Given the description of an element on the screen output the (x, y) to click on. 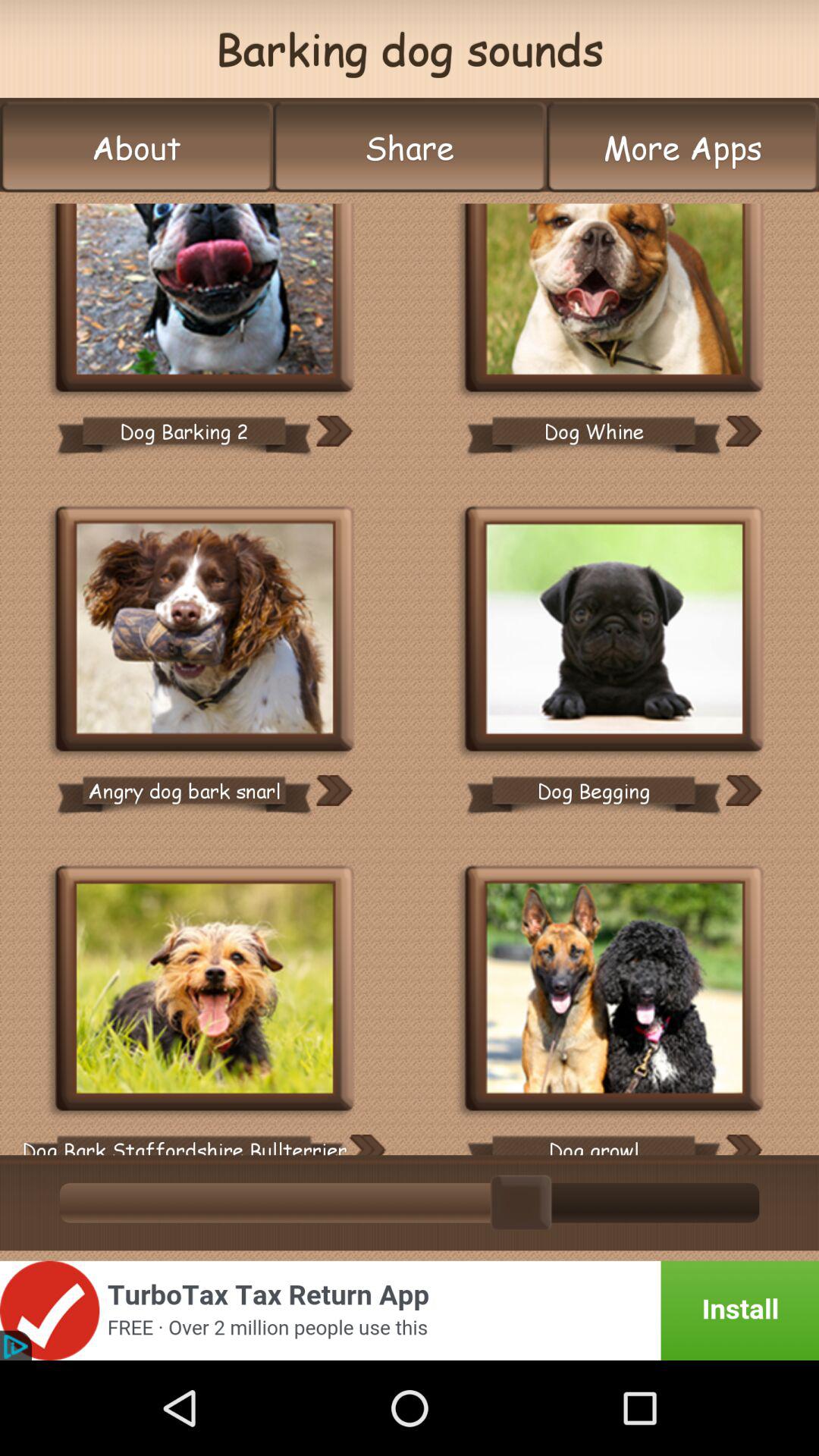
play dog bark sound (204, 630)
